Given the description of an element on the screen output the (x, y) to click on. 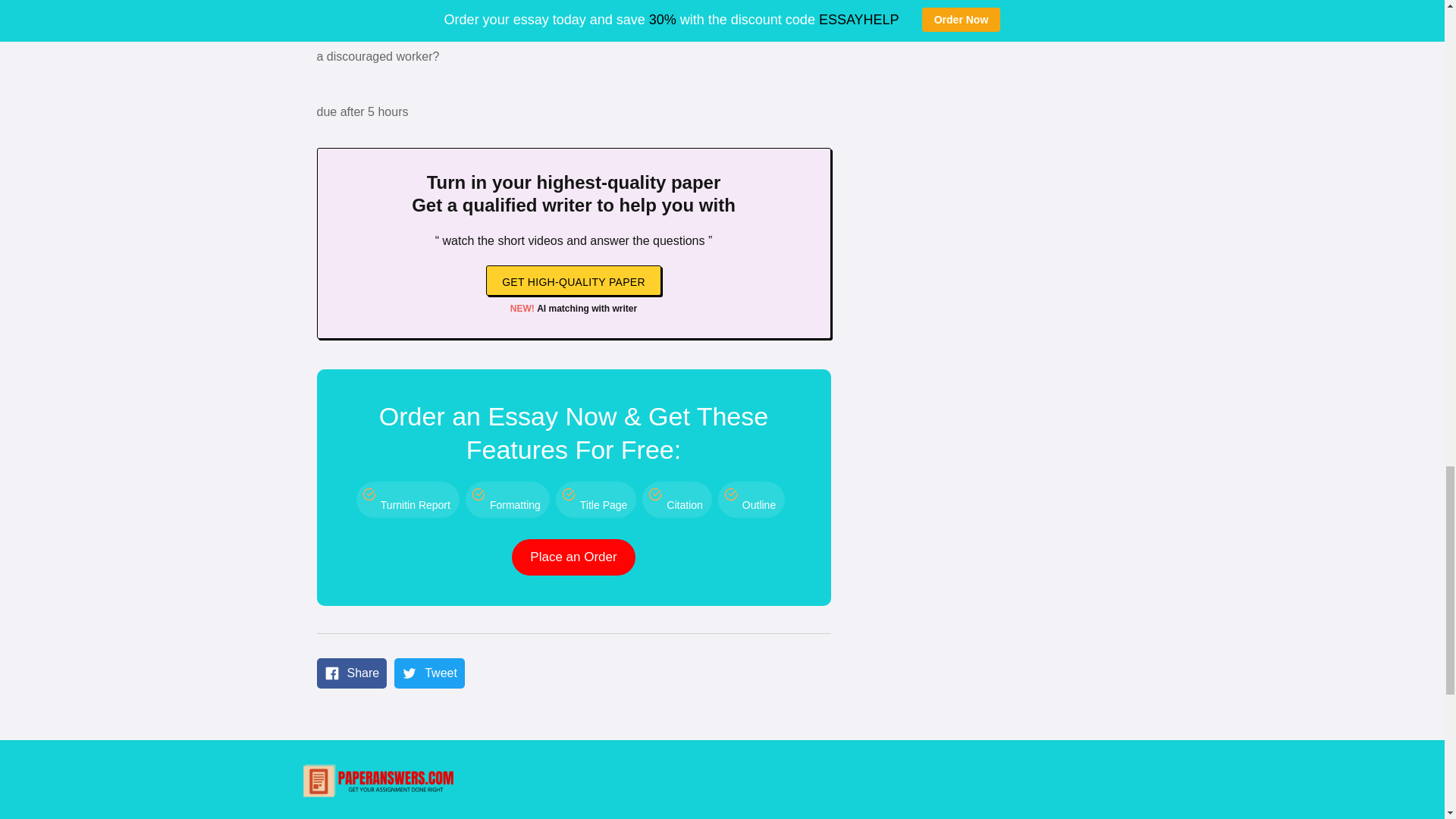
Share (352, 673)
GET HIGH-QUALITY PAPER (573, 280)
Place an Order (573, 556)
Tweet (429, 673)
